Given the description of an element on the screen output the (x, y) to click on. 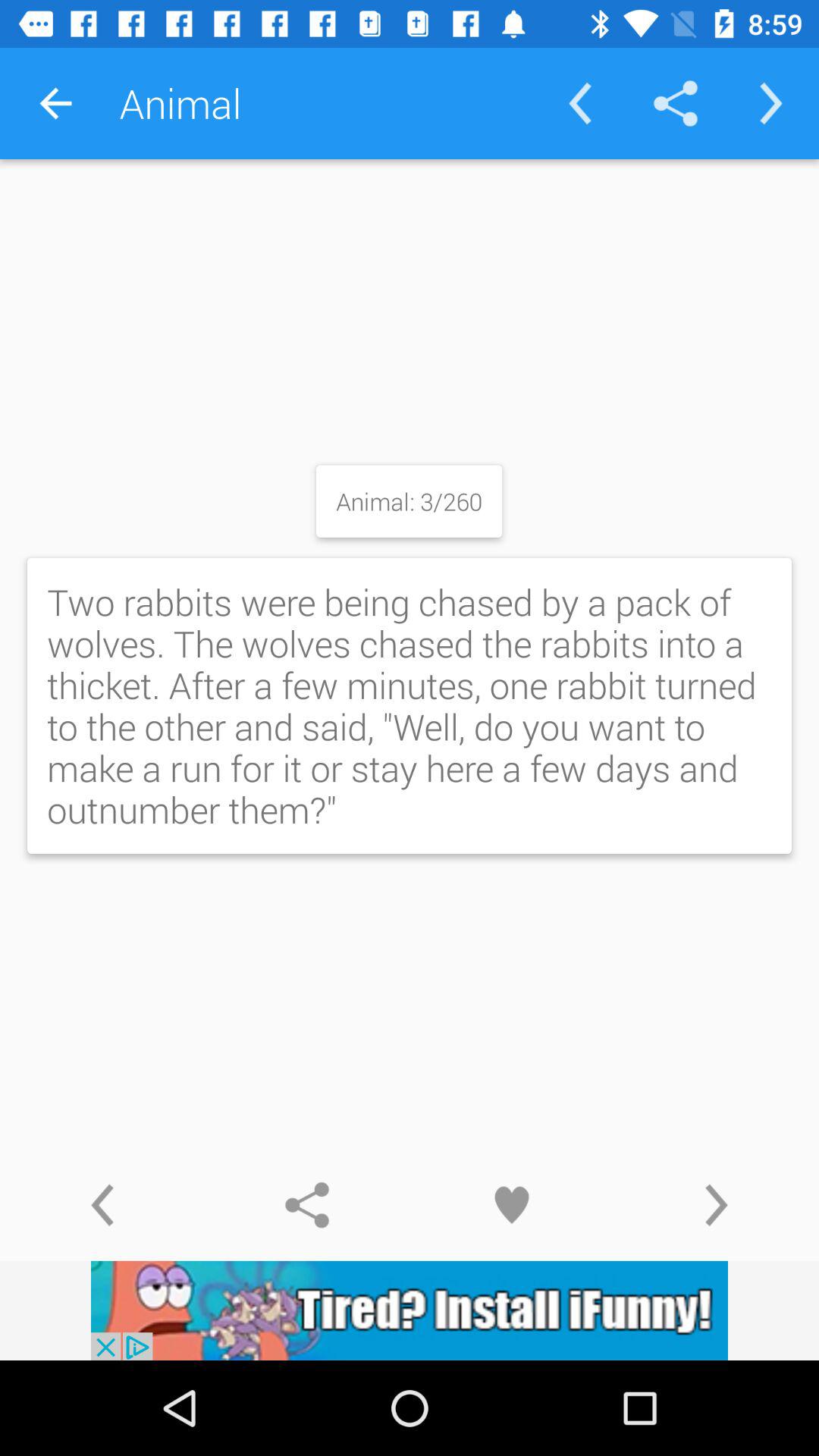
go to next page (716, 1205)
